Given the description of an element on the screen output the (x, y) to click on. 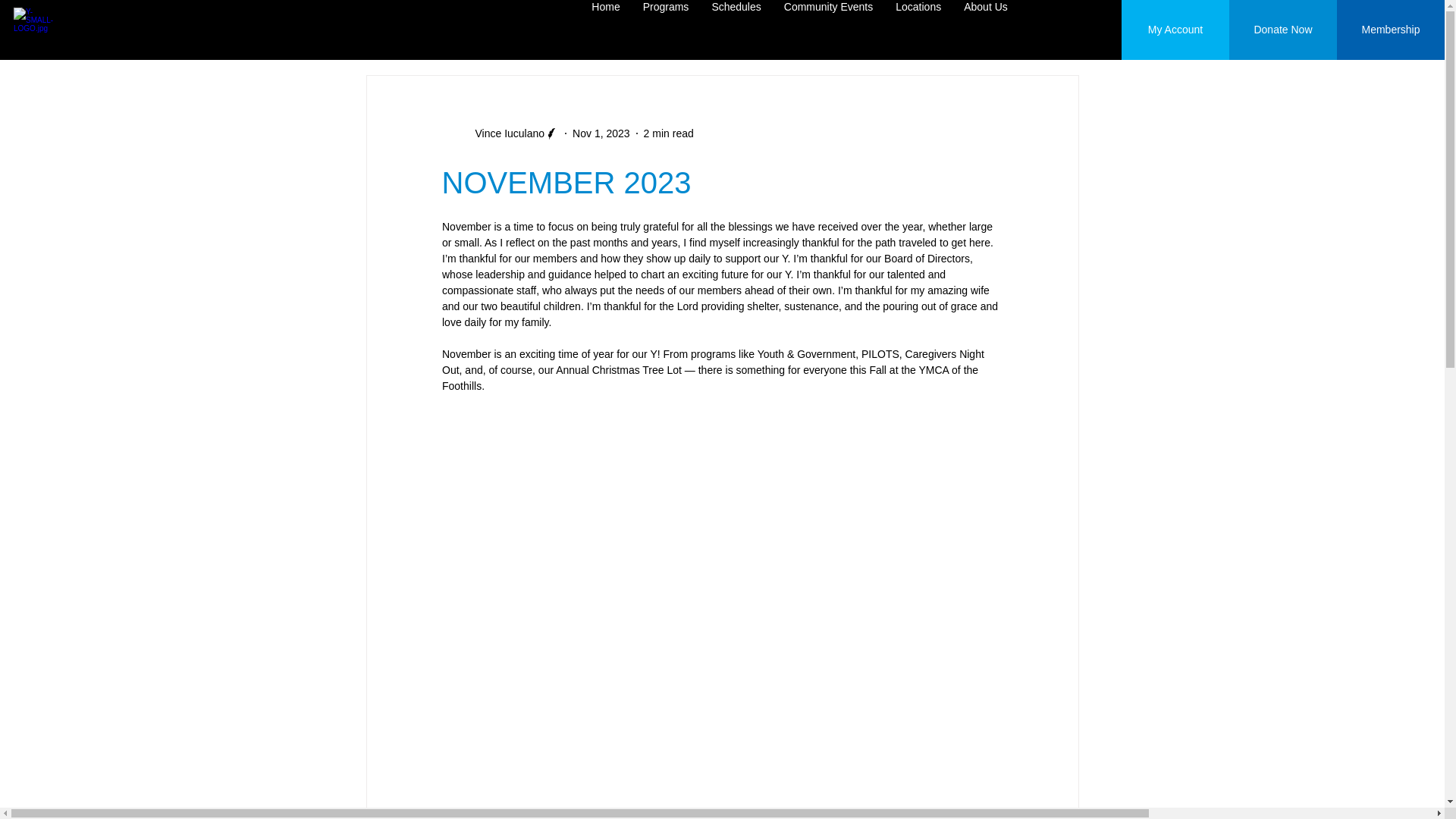
Schedules (735, 29)
Nov 1, 2023 (601, 133)
Vince Iuculano (500, 133)
My Account (1174, 29)
2 min read (668, 133)
Vince Iuculano (504, 133)
Membership (1390, 29)
Donate Now (1282, 29)
